Given the description of an element on the screen output the (x, y) to click on. 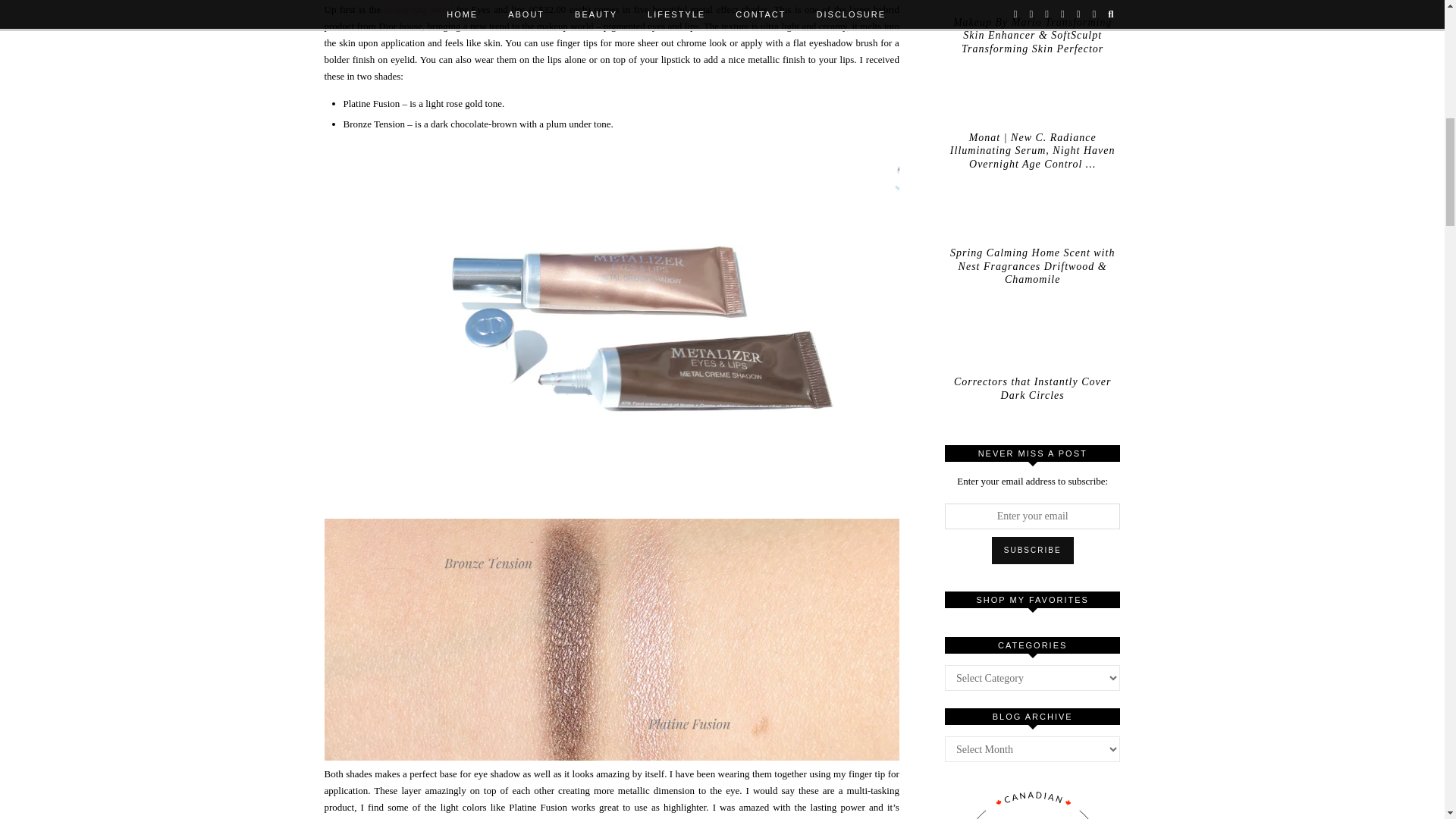
Subscribe (1032, 550)
